Given the description of an element on the screen output the (x, y) to click on. 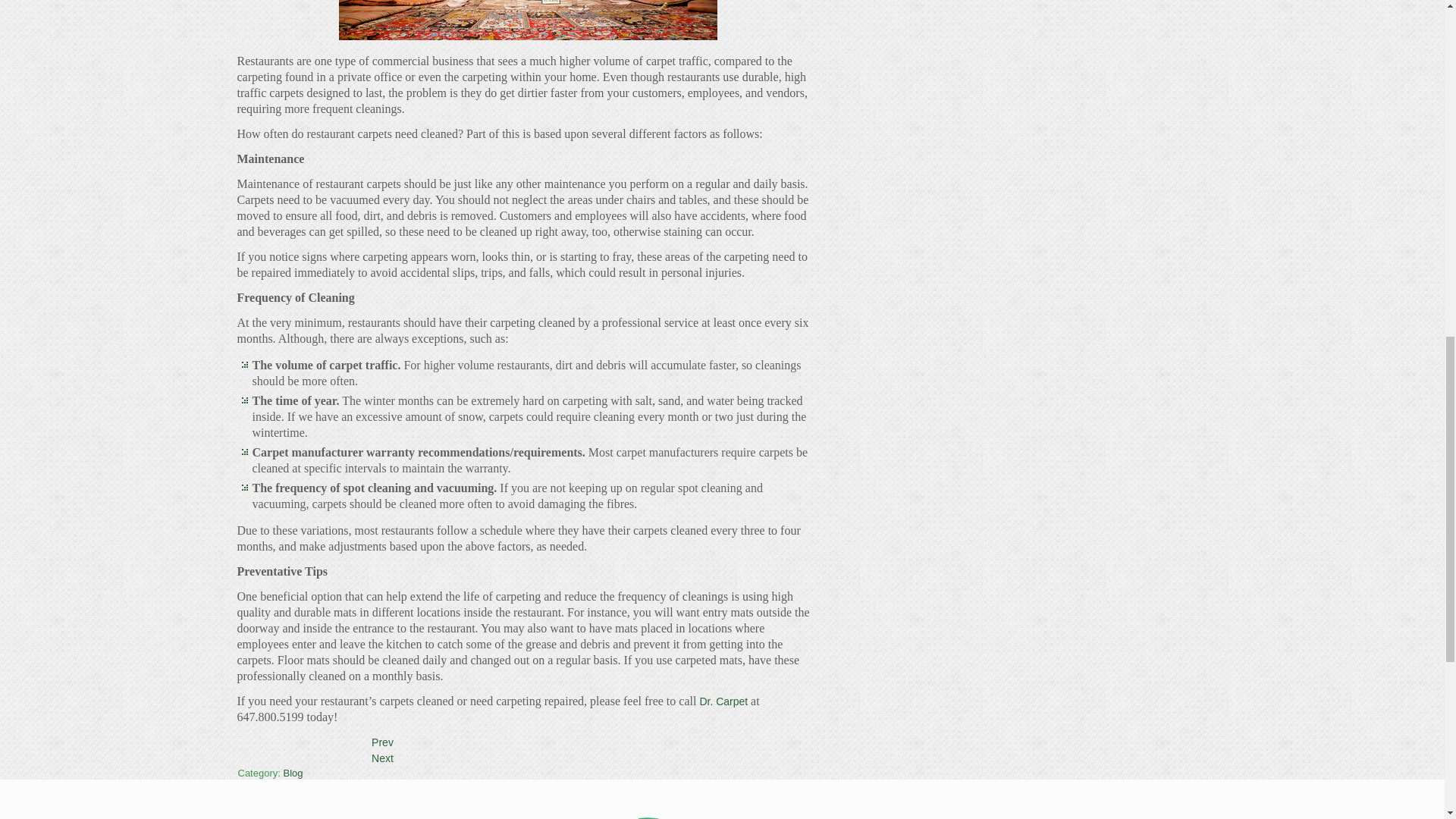
Next (382, 758)
Dr. Carpet (724, 701)
Prev (382, 742)
Blog (292, 772)
